Given the description of an element on the screen output the (x, y) to click on. 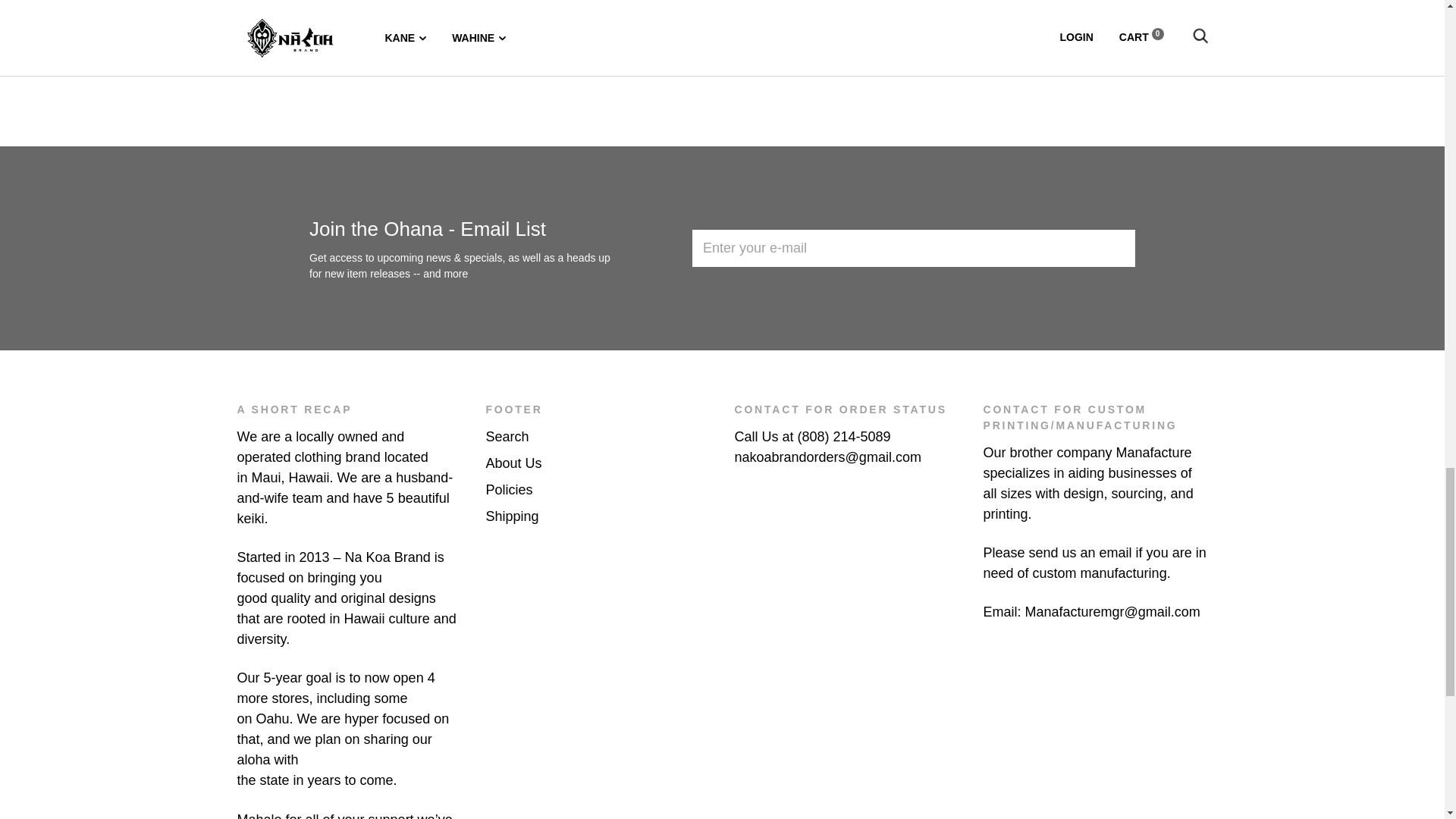
Subscribe (1071, 248)
